Given the description of an element on the screen output the (x, y) to click on. 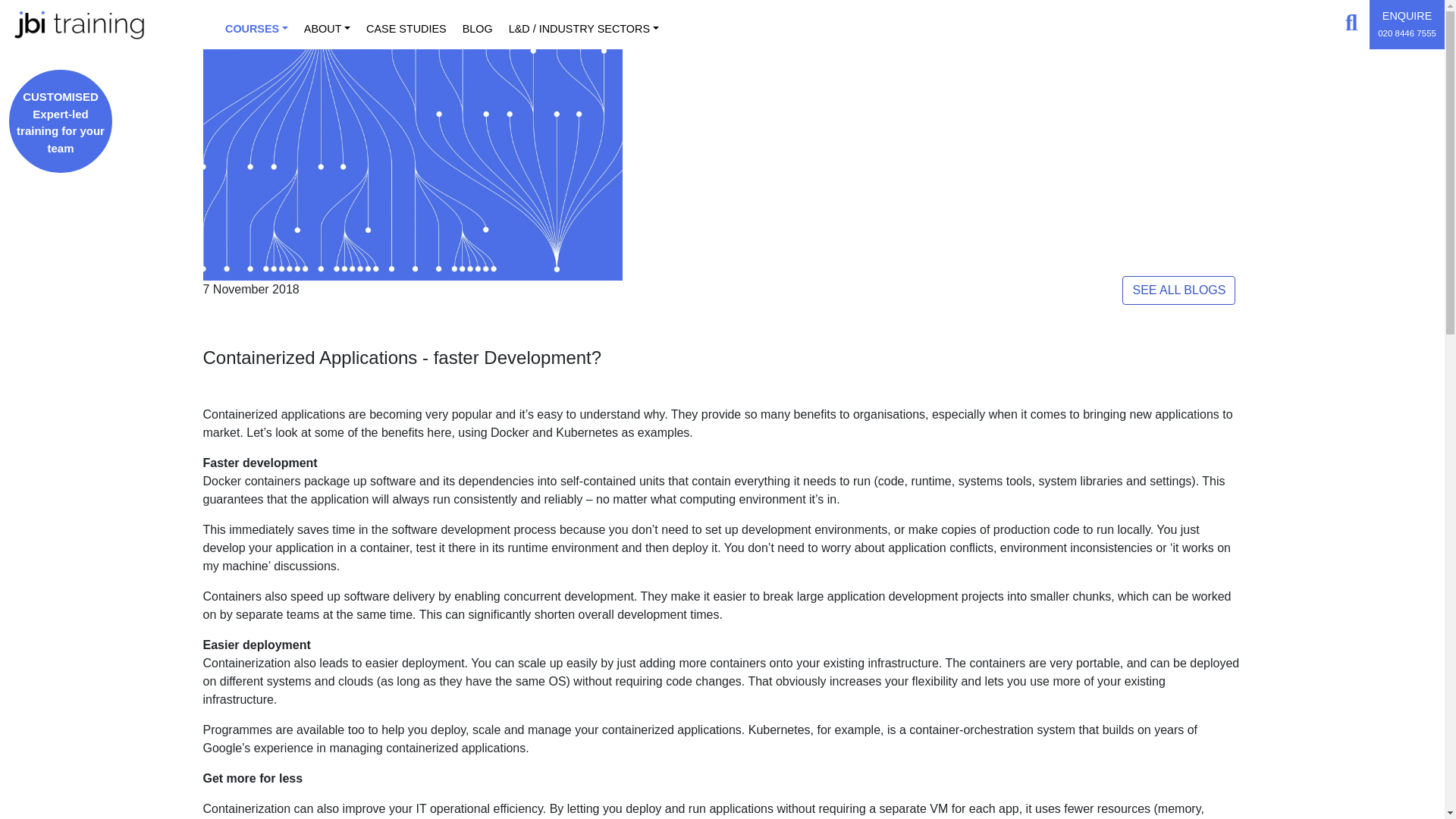
COURSES (258, 24)
